Given the description of an element on the screen output the (x, y) to click on. 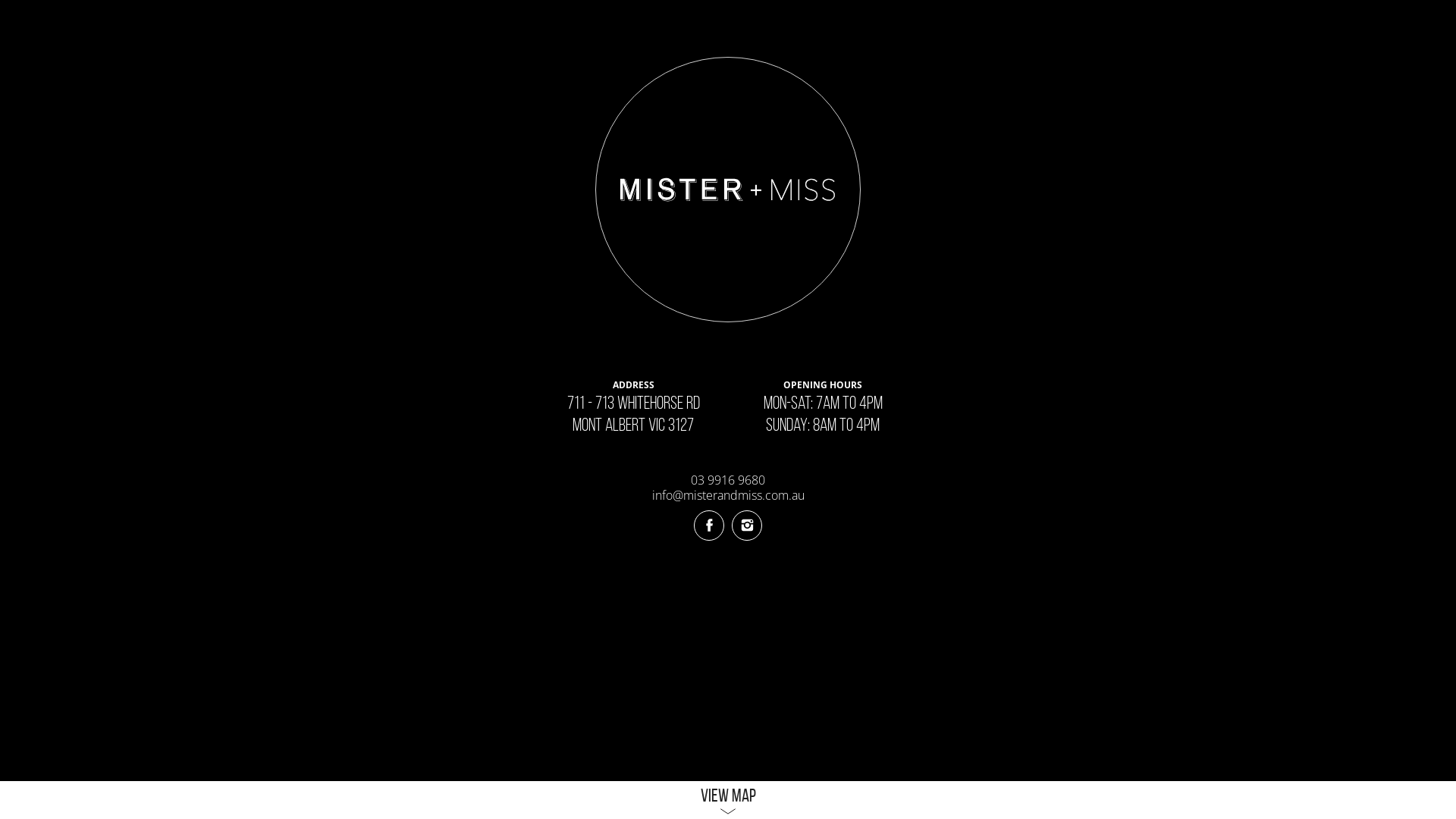
info@misterandmiss.com.au Element type: text (728, 494)
03 9916 9680 Element type: text (727, 479)
